Given the description of an element on the screen output the (x, y) to click on. 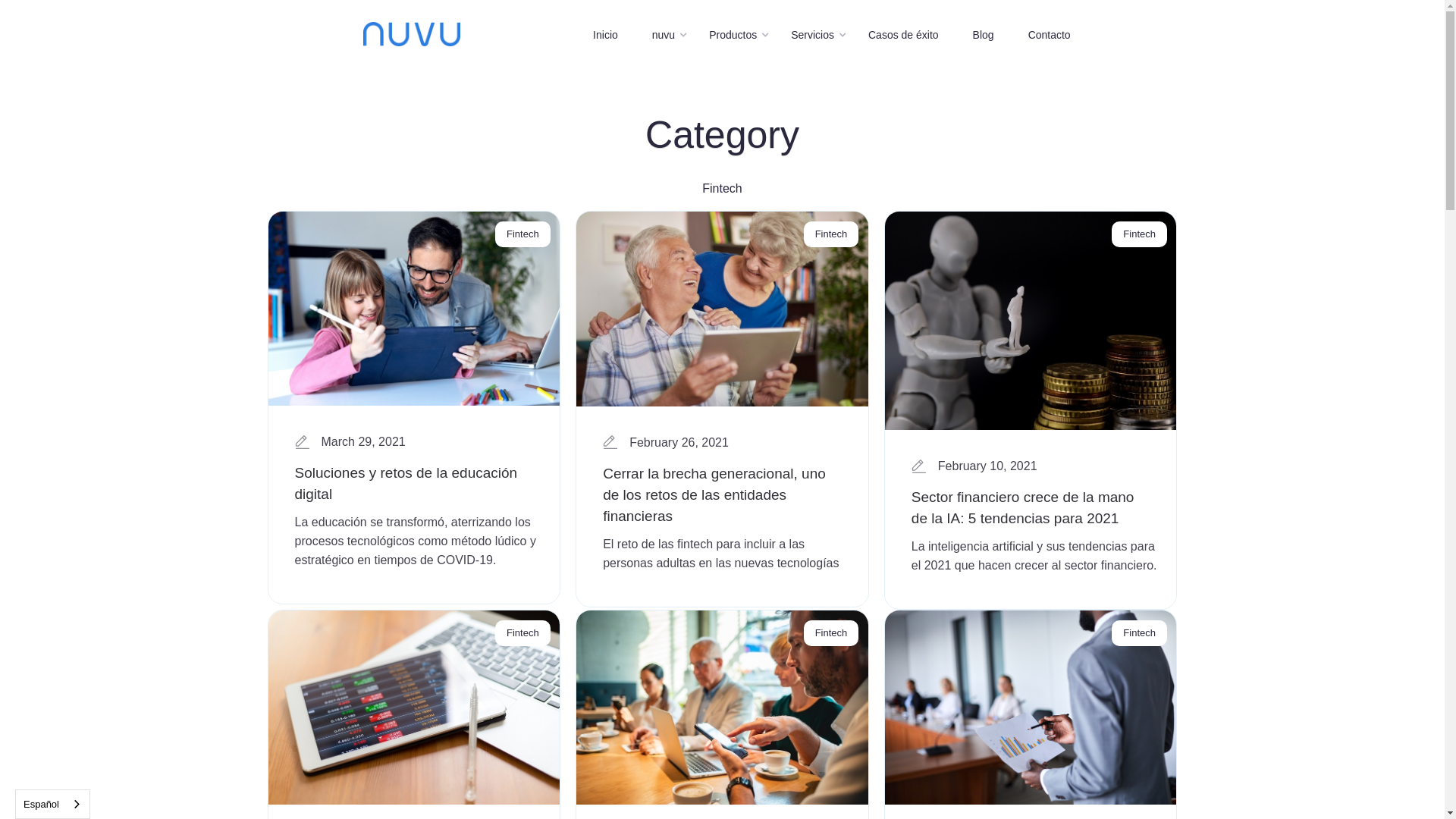
Contacto Element type: text (1051, 34)
Inicio Element type: text (607, 34)
Inicio Element type: text (746, 467)
Contacto Element type: text (746, 512)
Houndoc Element type: text (1020, 467)
Blog Element type: text (985, 34)
Apartado legal Element type: text (746, 535)
Blog Element type: text (746, 490)
Tratamiento de datos Element type: text (746, 558)
. Element type: text (267, 740)
XCrime Element type: text (1020, 490)
